Given the description of an element on the screen output the (x, y) to click on. 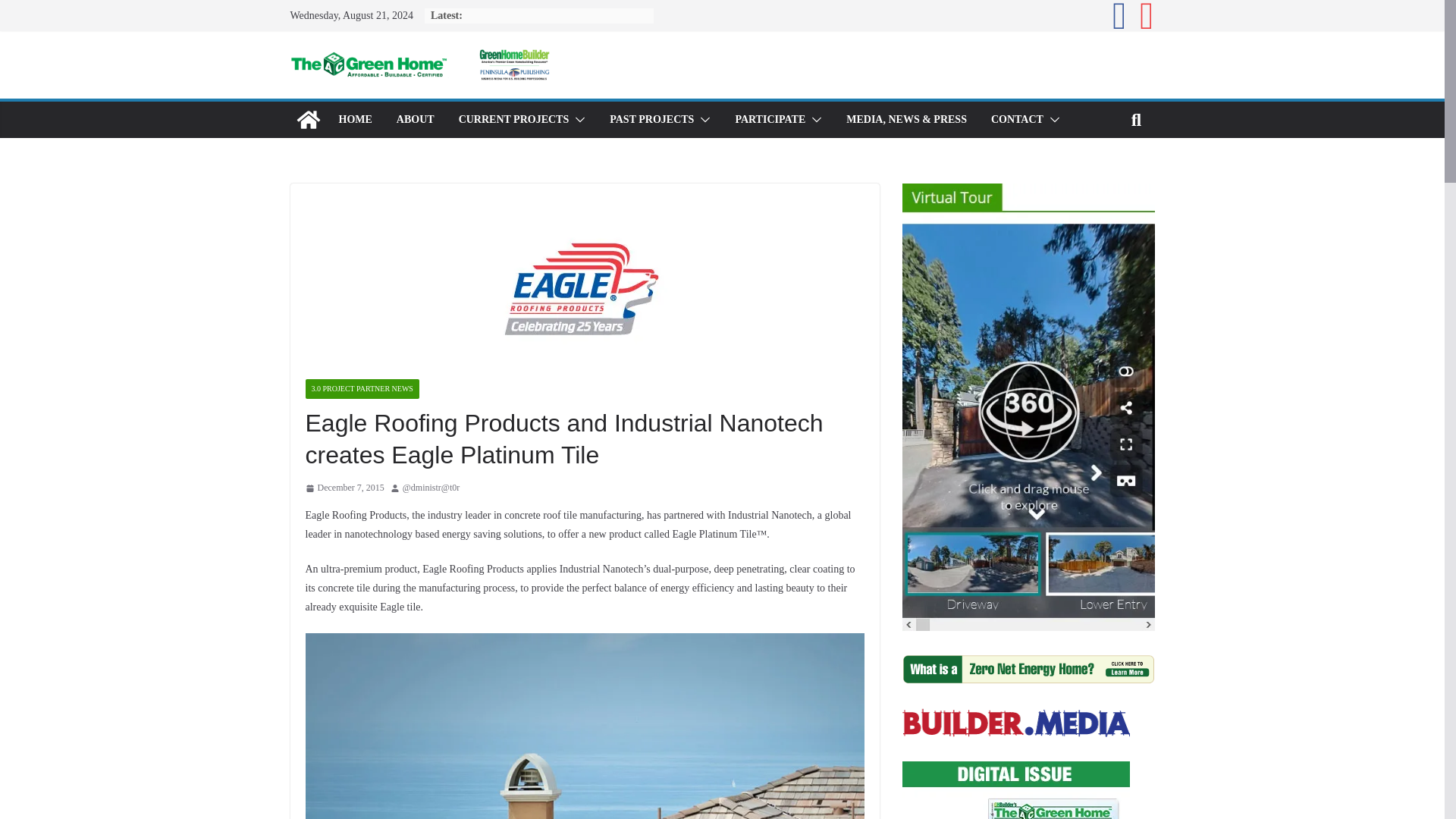
CURRENT PROJECTS (513, 119)
PAST PROJECTS (652, 119)
PARTICIPATE (770, 119)
11:28 am (344, 487)
ABOUT (414, 119)
The ABC Green Home Project (307, 119)
HOME (354, 119)
